Given the description of an element on the screen output the (x, y) to click on. 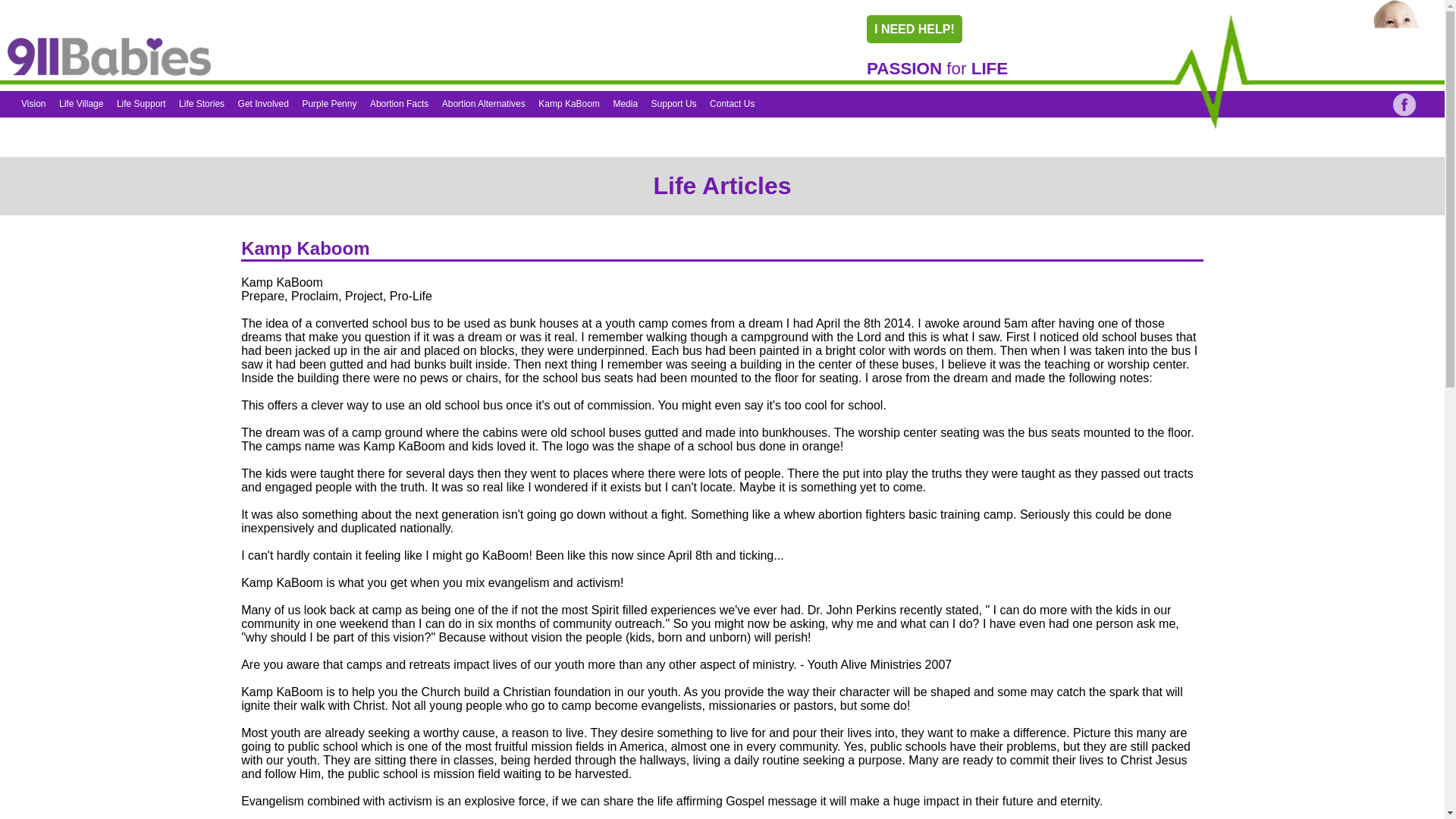
Life Village (81, 103)
Vision (33, 103)
I NEED HELP! (914, 29)
Life Support (141, 103)
Get Involved (263, 103)
Purple Penny (328, 103)
Kamp KaBoom (569, 103)
Life Stories (201, 103)
Abortion Alternatives (483, 103)
Abortion Facts (398, 103)
